Given the description of an element on the screen output the (x, y) to click on. 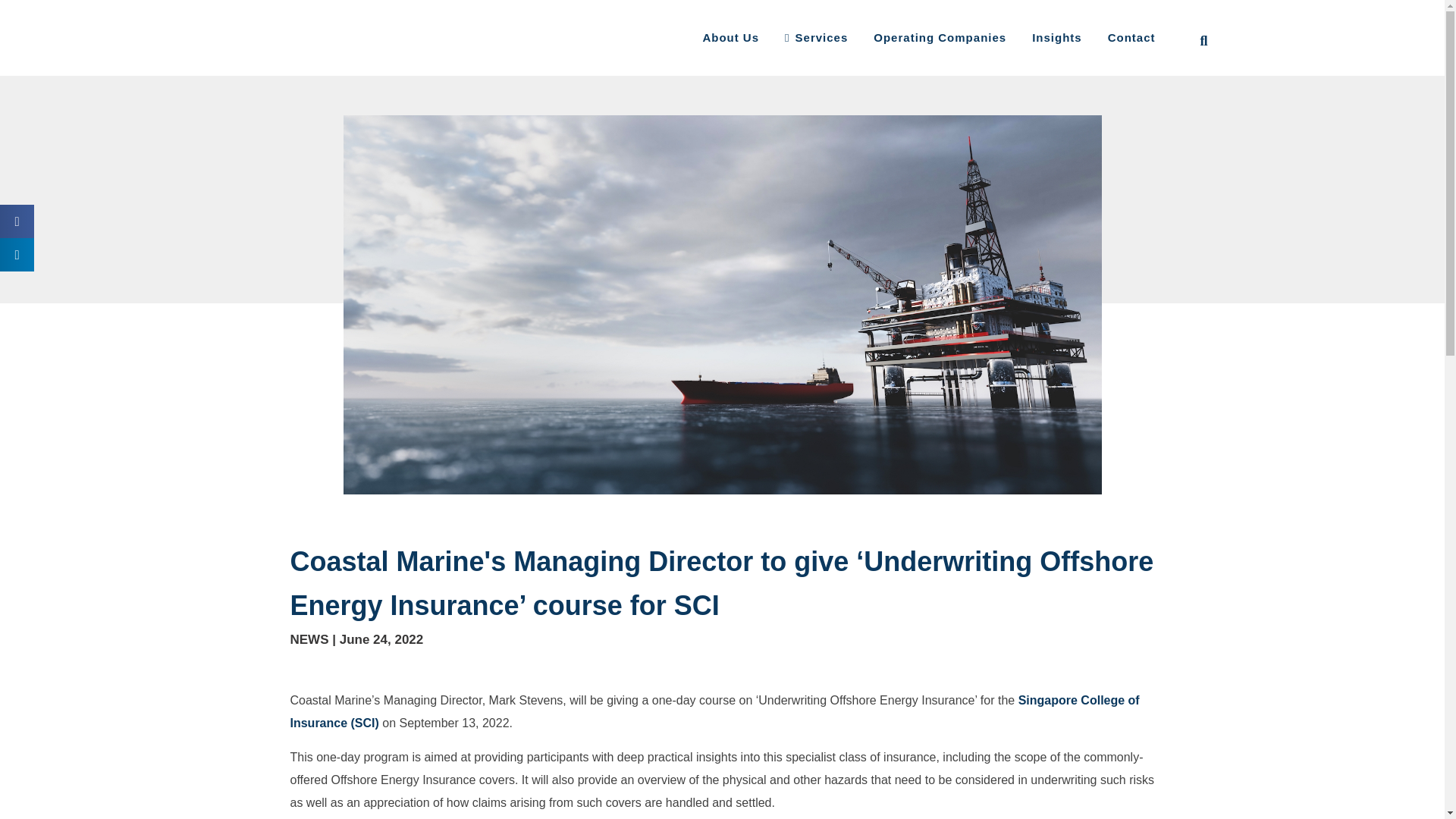
Operating Companies (939, 38)
Contact (1131, 38)
About Us (729, 38)
Services (815, 38)
Insights (1056, 38)
